Given the description of an element on the screen output the (x, y) to click on. 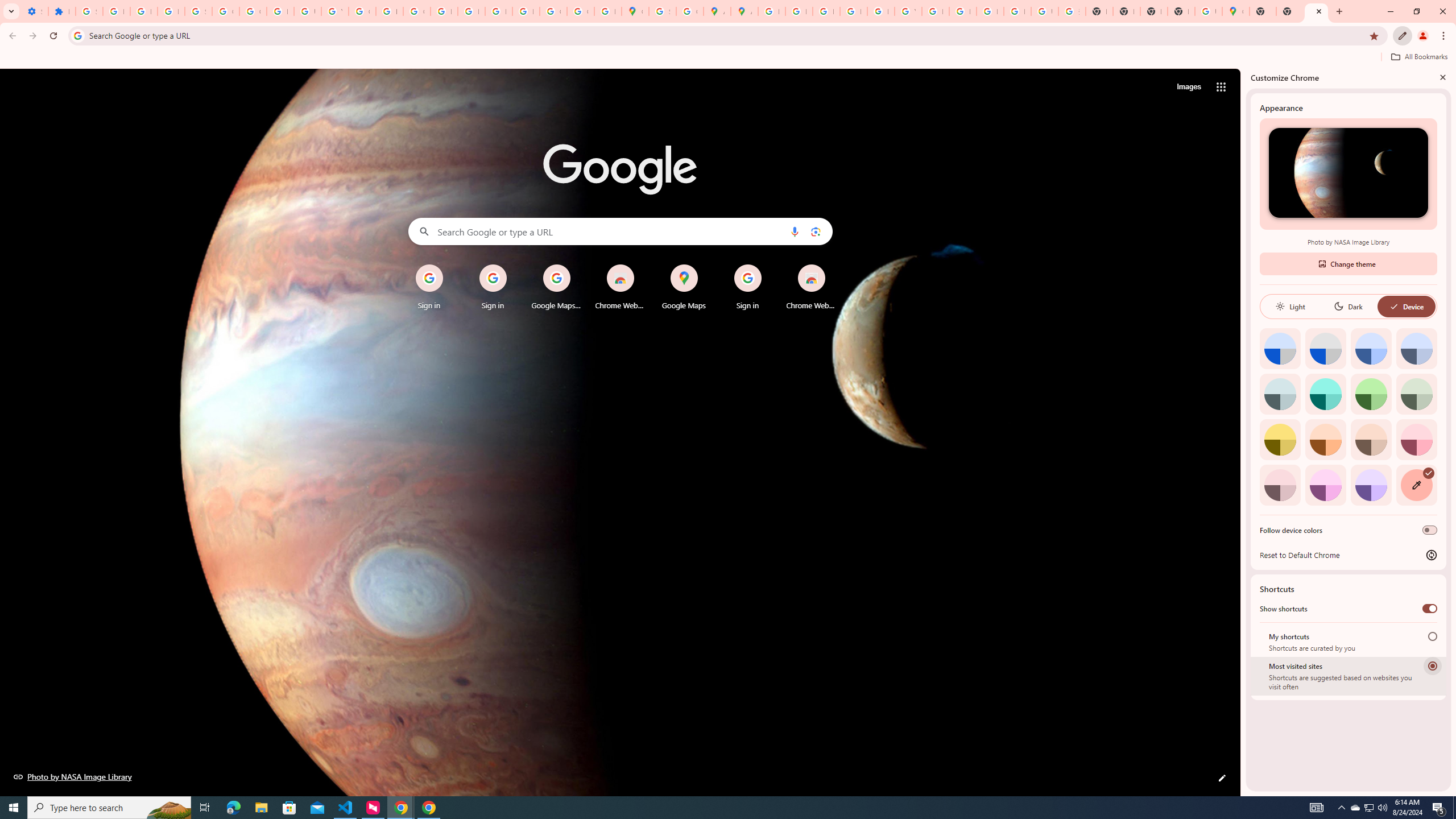
Cool grey (1416, 348)
Privacy Help Center - Policies Help (799, 11)
Privacy Help Center - Policies Help (444, 11)
Side Panel Resize Handle (1242, 431)
Viridian (1416, 393)
Pink (1279, 484)
Show shortcuts (1429, 608)
Most visited sites (1432, 665)
